Given the description of an element on the screen output the (x, y) to click on. 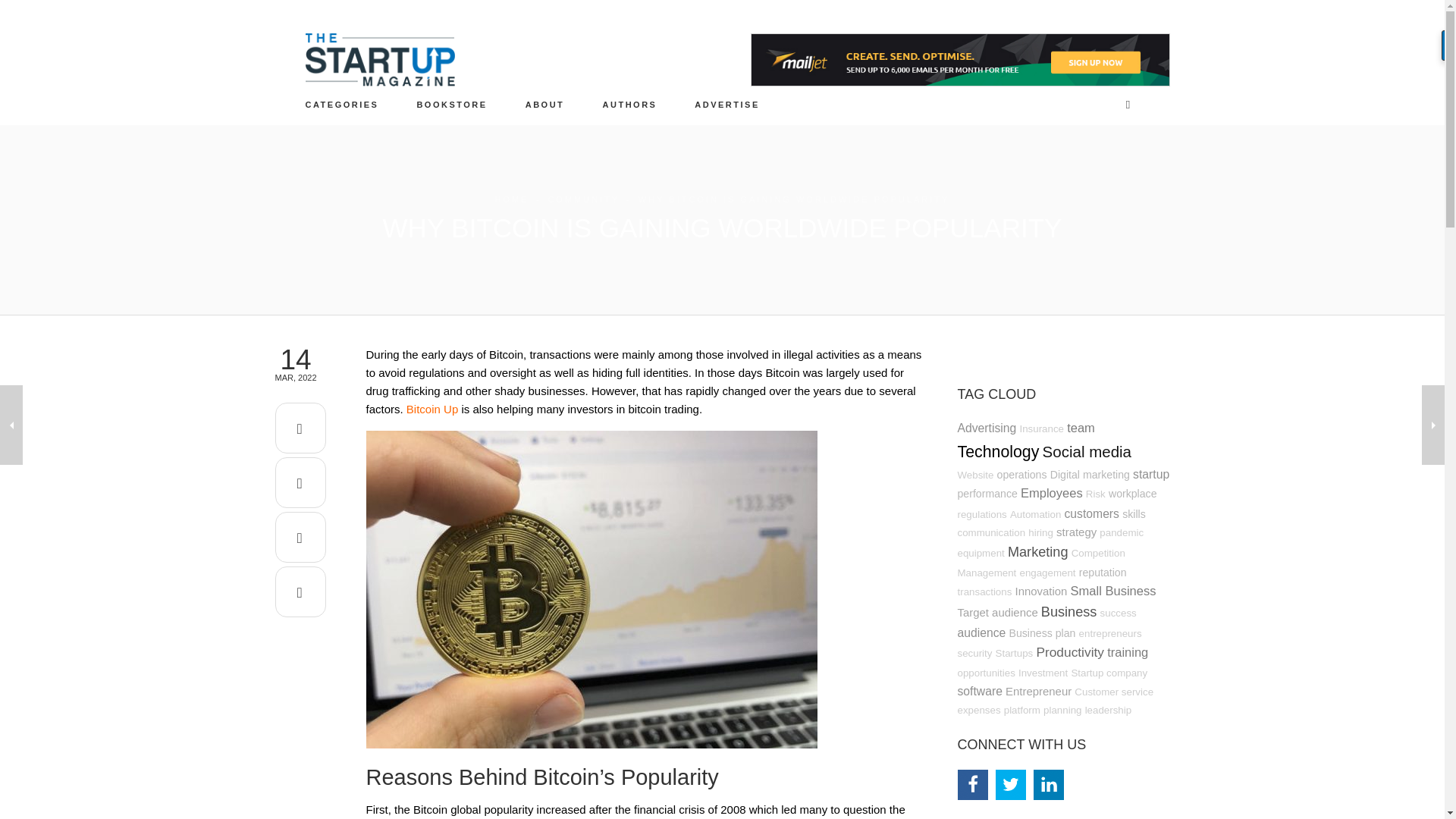
238 topics (1089, 474)
170 topics (1095, 493)
318 topics (986, 427)
171 topics (974, 474)
596 topics (997, 452)
ABOUT (544, 103)
Welcome to The Startup Magazine (544, 103)
209 topics (1021, 474)
296 topics (1150, 473)
CATEGORIES (341, 103)
